Given the description of an element on the screen output the (x, y) to click on. 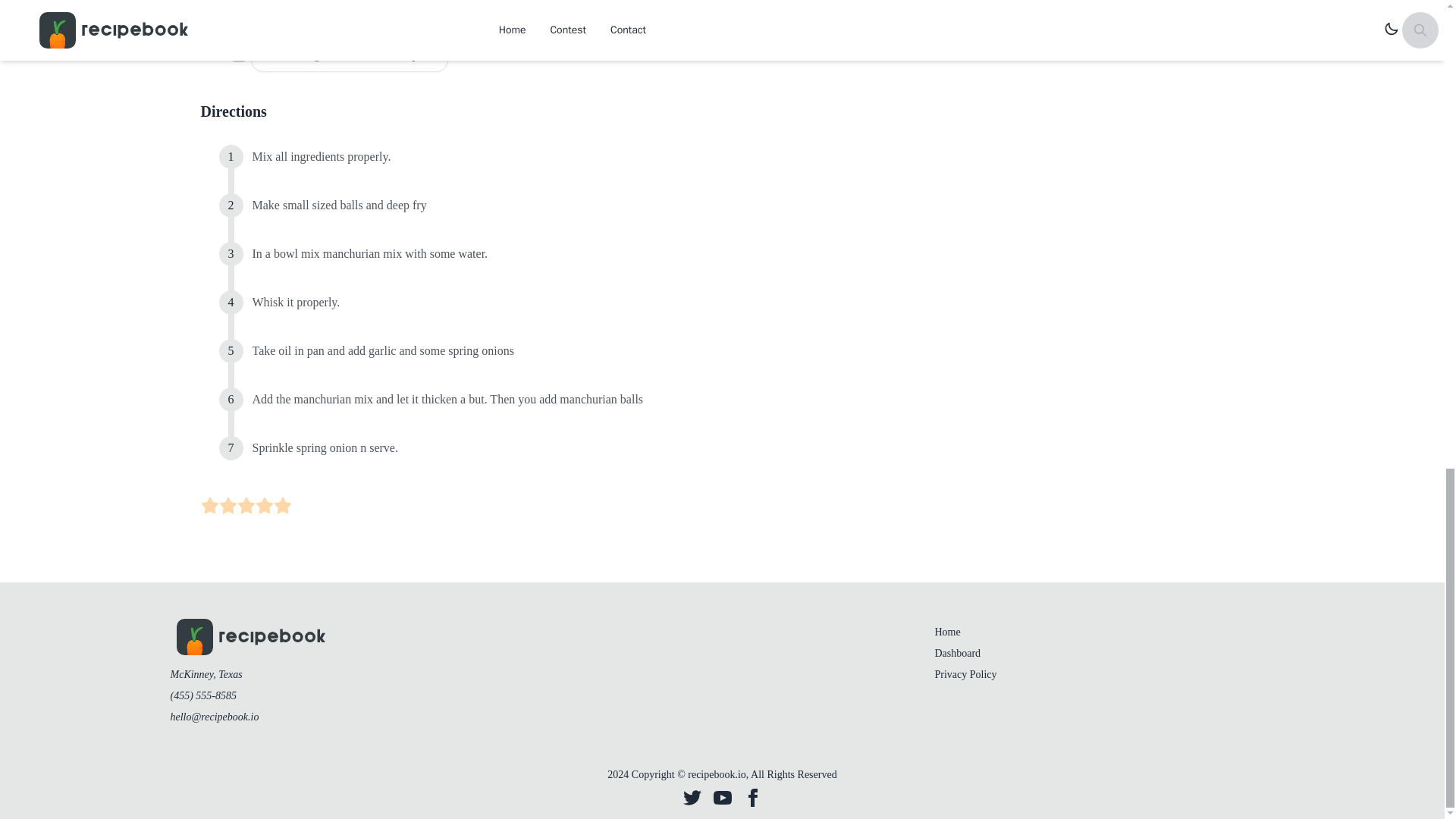
on (209, 505)
on (244, 505)
on (226, 505)
on (282, 505)
on (238, 53)
on (263, 505)
on (238, 12)
